Given the description of an element on the screen output the (x, y) to click on. 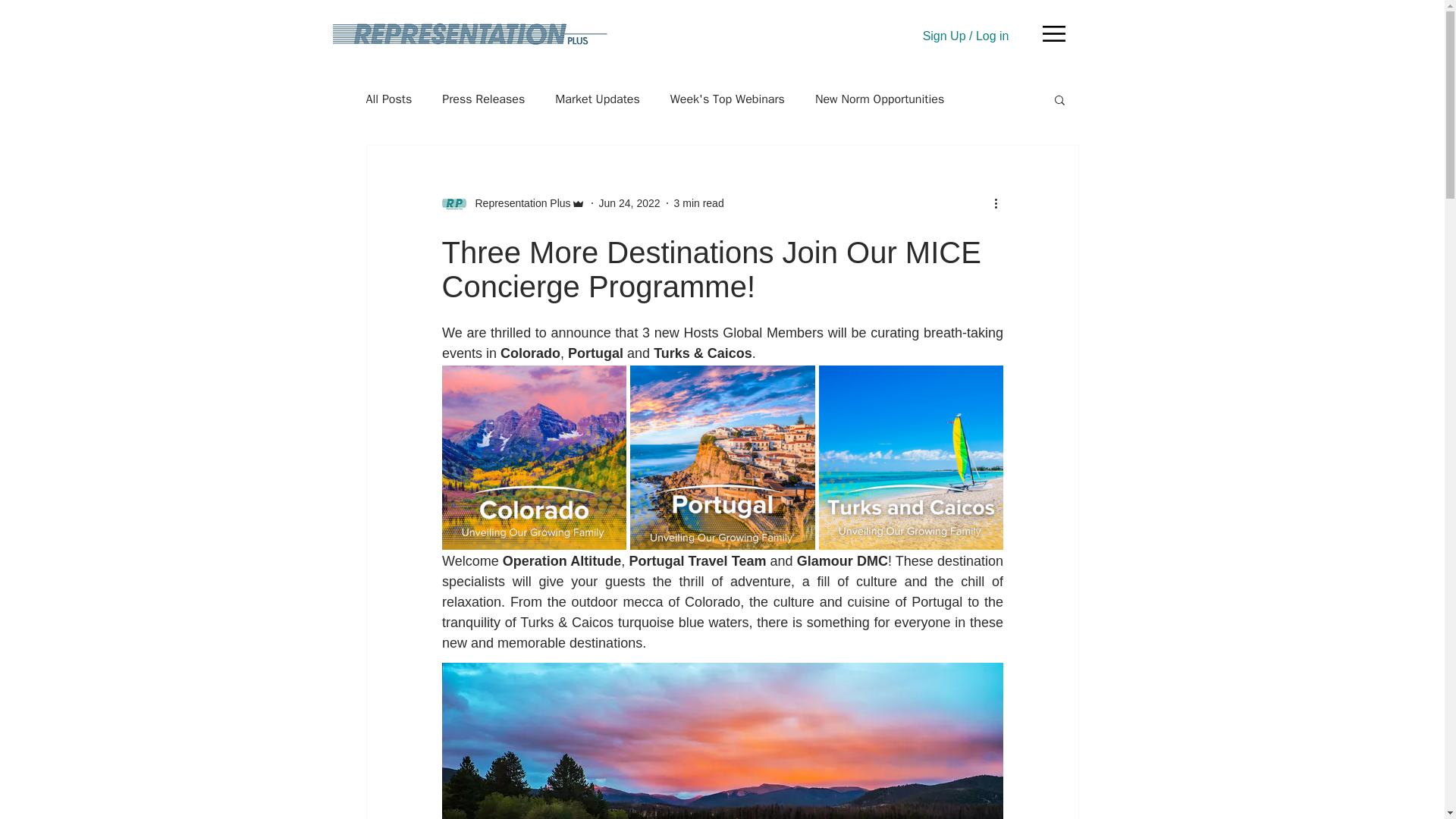
3 min read (698, 203)
Press Releases (483, 98)
Representation Plus (517, 203)
Week's Top Webinars (726, 98)
Jun 24, 2022 (629, 203)
New Norm Opportunities (879, 98)
Market Updates (597, 98)
All Posts (388, 98)
Representation Plus (513, 202)
